Given the description of an element on the screen output the (x, y) to click on. 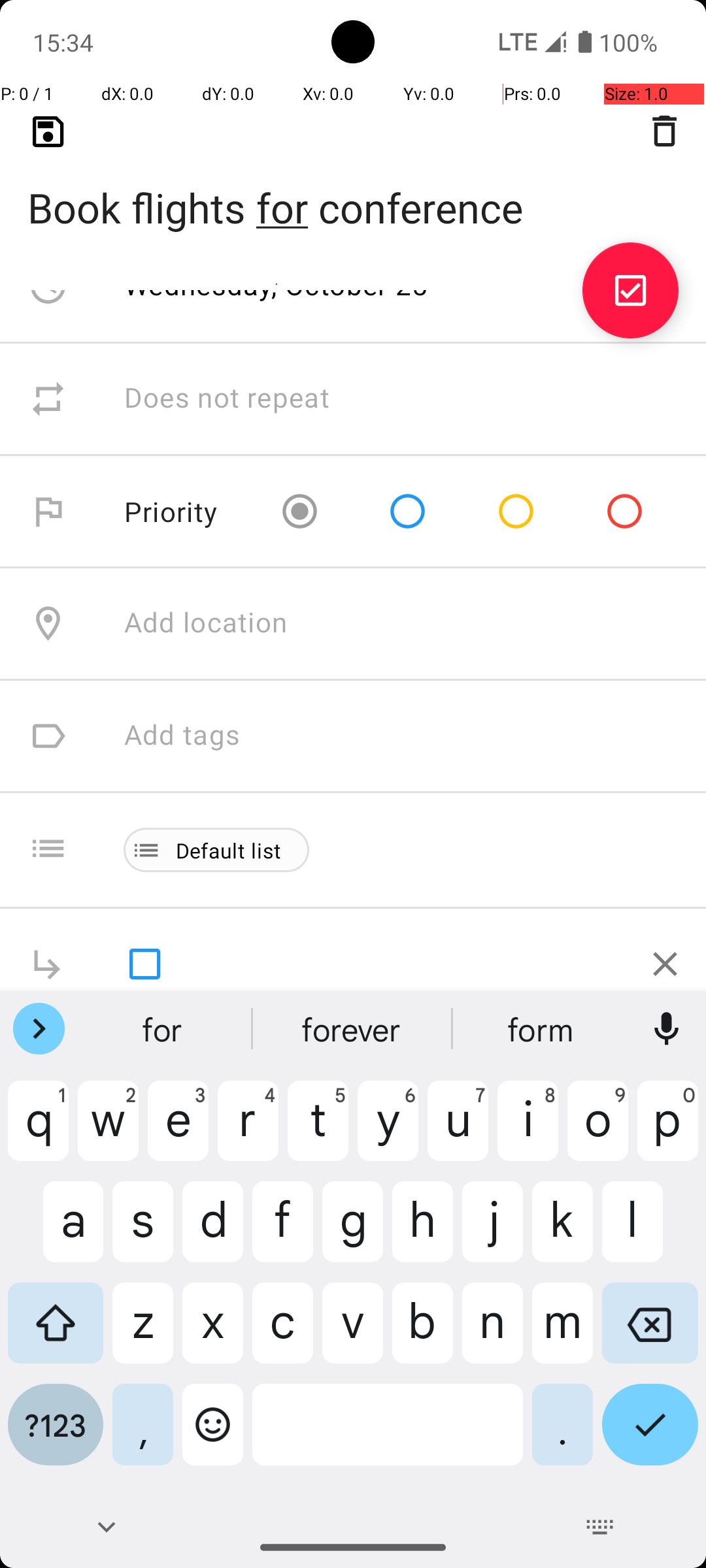
Book flights for conference Element type: android.widget.EditText (353, 186)
Wednesday, October 25 Element type: android.widget.TextView (276, 284)
for Element type: android.widget.FrameLayout (163, 1028)
forever Element type: android.widget.FrameLayout (352, 1028)
form Element type: android.widget.FrameLayout (541, 1028)
